Given the description of an element on the screen output the (x, y) to click on. 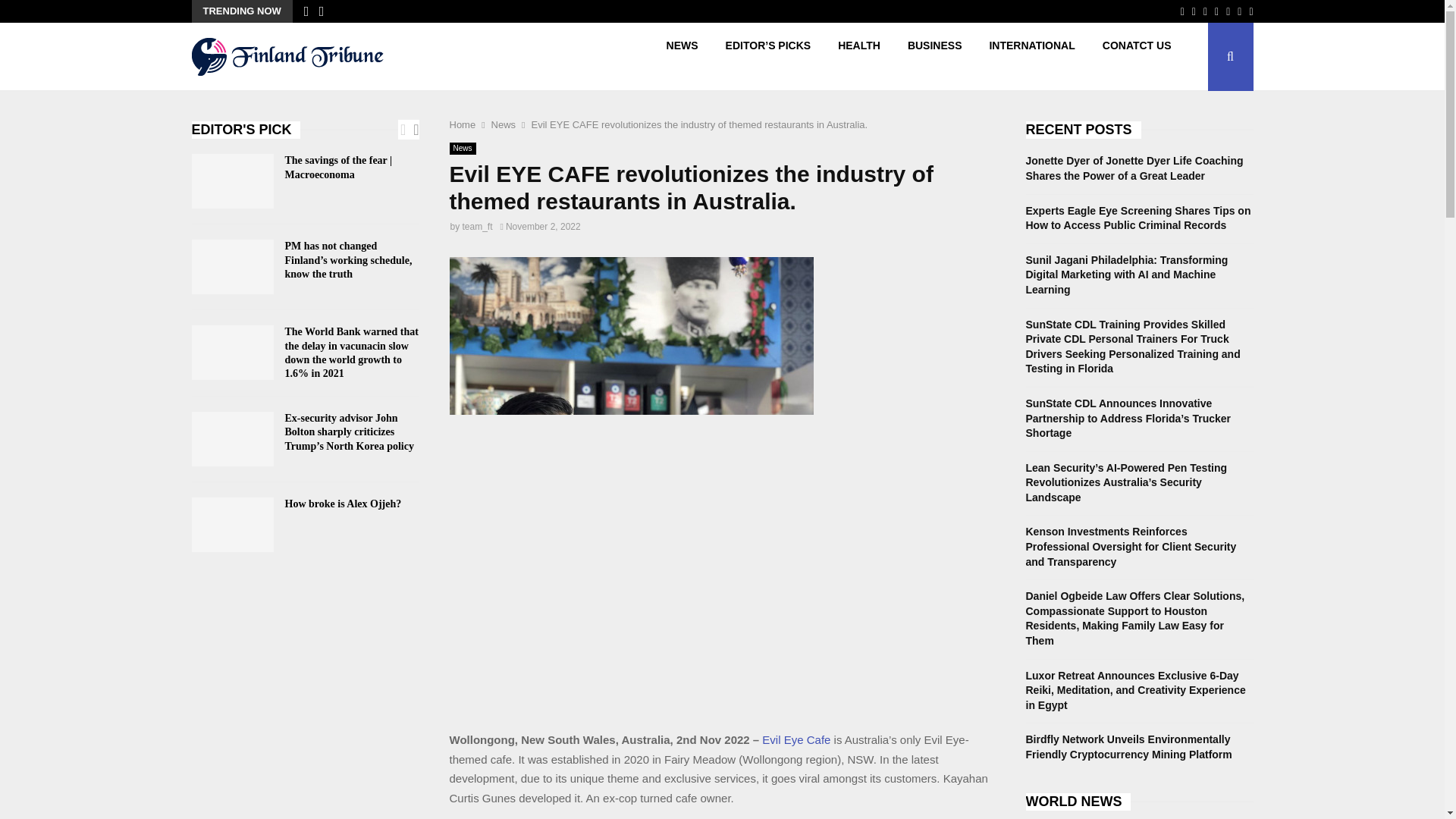
News (462, 148)
INTERNATIONAL (1031, 56)
Evil Eye Cafe (795, 739)
BUSINESS (934, 56)
CONATCT US (1137, 56)
News (504, 124)
Editor's Pick (244, 129)
Home (462, 124)
HEALTH (858, 56)
